Given the description of an element on the screen output the (x, y) to click on. 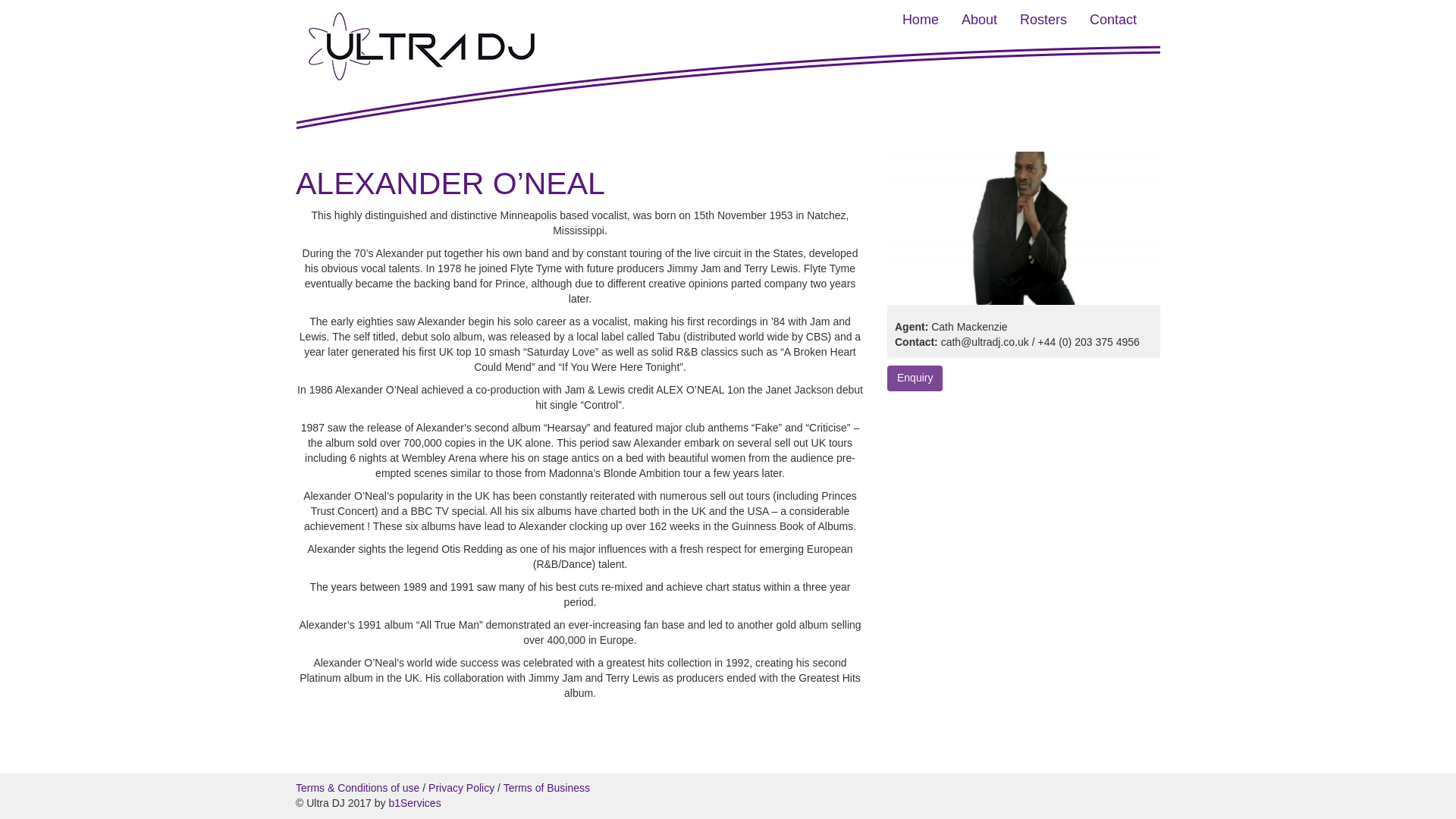
Terms of Business (546, 787)
Rosters (1043, 19)
Home (920, 19)
Rosters (1043, 19)
About (979, 19)
Contact (1113, 19)
Enquiry (914, 378)
Contact (1113, 19)
b1Services (414, 802)
Home (920, 19)
Enquiry (914, 373)
About (979, 19)
Privacy Policy (461, 787)
